Given the description of an element on the screen output the (x, y) to click on. 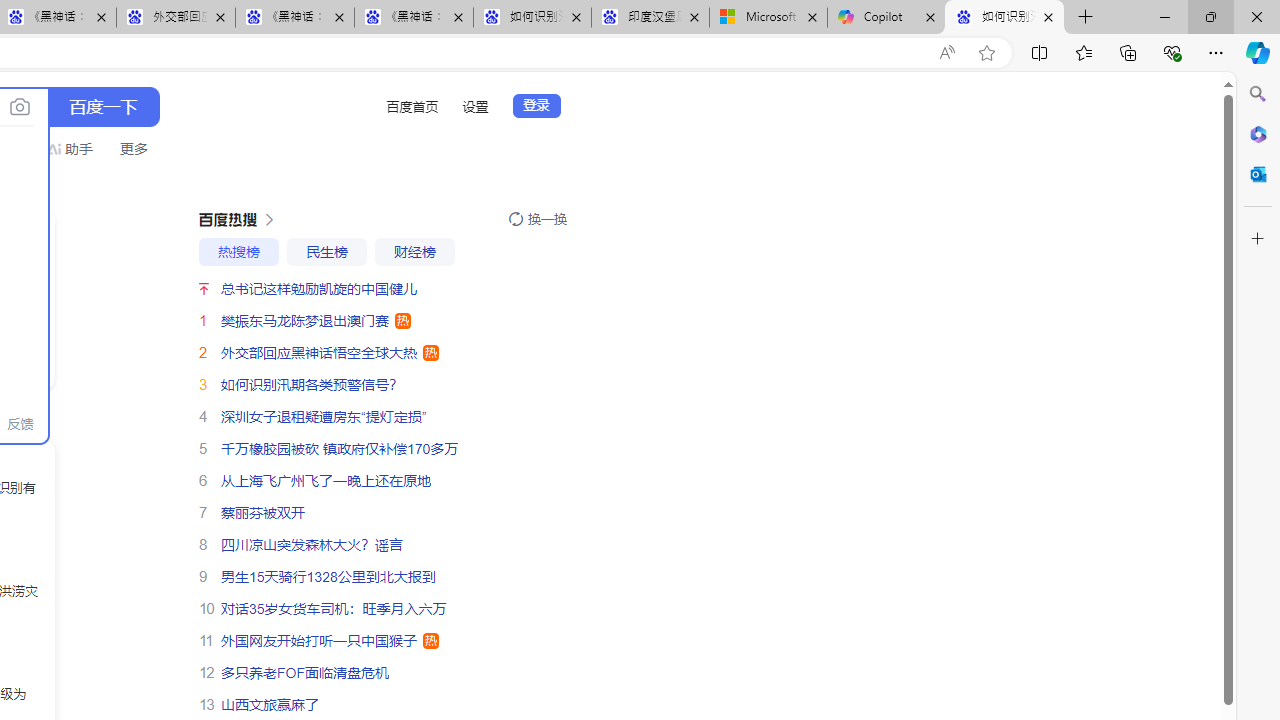
Copilot (886, 17)
